Given the description of an element on the screen output the (x, y) to click on. 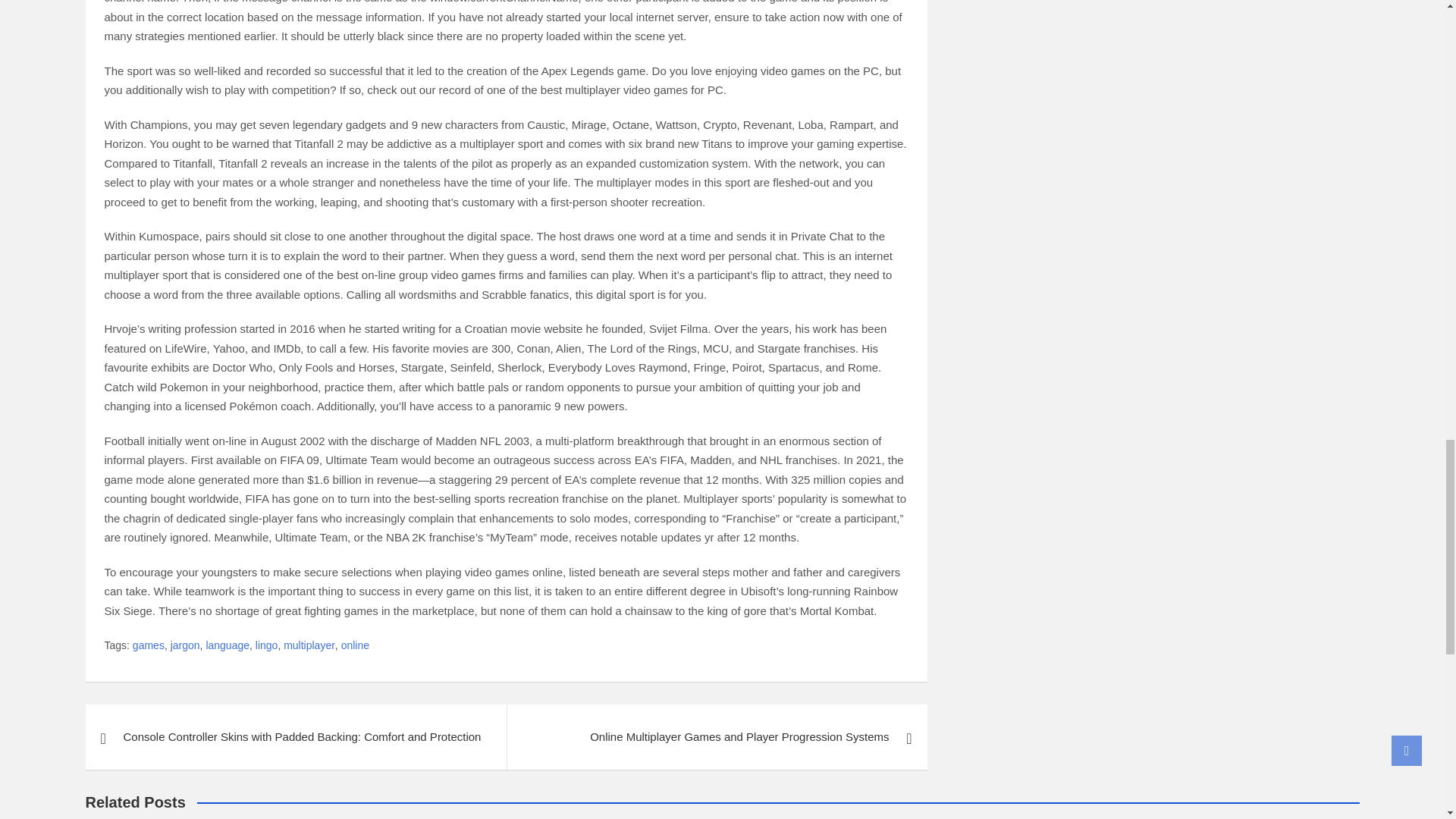
multiplayer (308, 646)
language (226, 646)
online (354, 646)
Online Multiplayer Games and Player Progression Systems (716, 736)
games (148, 646)
jargon (185, 646)
lingo (267, 646)
